Given the description of an element on the screen output the (x, y) to click on. 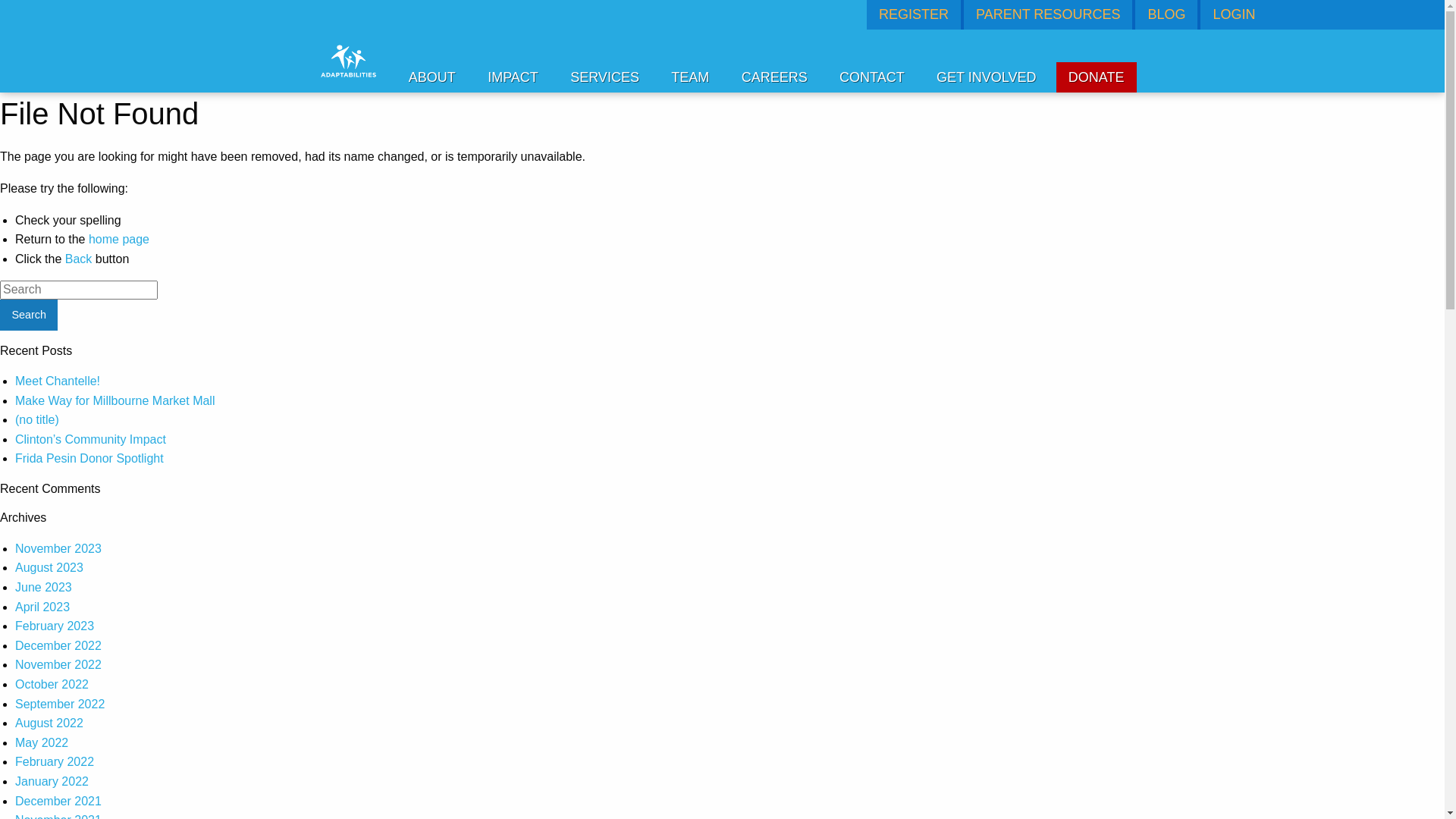
January 2022 Element type: text (51, 781)
November 2022 Element type: text (58, 664)
IMPACT Element type: text (512, 77)
August 2023 Element type: text (49, 567)
December 2021 Element type: text (58, 801)
CAREERS Element type: text (774, 77)
ABOUT Element type: text (431, 77)
home page Element type: text (118, 239)
SERVICES Element type: text (604, 77)
Frida Pesin Donor Spotlight Element type: text (89, 458)
Search Element type: text (28, 314)
February 2022 Element type: text (54, 761)
September 2022 Element type: text (59, 704)
TEAM Element type: text (689, 77)
LOGIN Element type: text (1232, 14)
October 2022 Element type: text (51, 684)
CONTACT Element type: text (871, 77)
April 2023 Element type: text (42, 607)
November 2023 Element type: text (58, 548)
Make Way for Millbourne Market Mall Element type: text (114, 401)
Back Element type: text (78, 259)
August 2022 Element type: text (49, 723)
GET INVOLVED Element type: text (986, 77)
REGISTER Element type: text (914, 14)
May 2022 Element type: text (41, 743)
February 2023 Element type: text (54, 626)
DONATE Element type: text (1096, 77)
(no title) Element type: text (37, 419)
Meet Chantelle! Element type: text (57, 381)
BLOG Element type: text (1165, 14)
December 2022 Element type: text (58, 645)
June 2023 Element type: text (43, 587)
PARENT RESOURCES Element type: text (1047, 14)
